Given the description of an element on the screen output the (x, y) to click on. 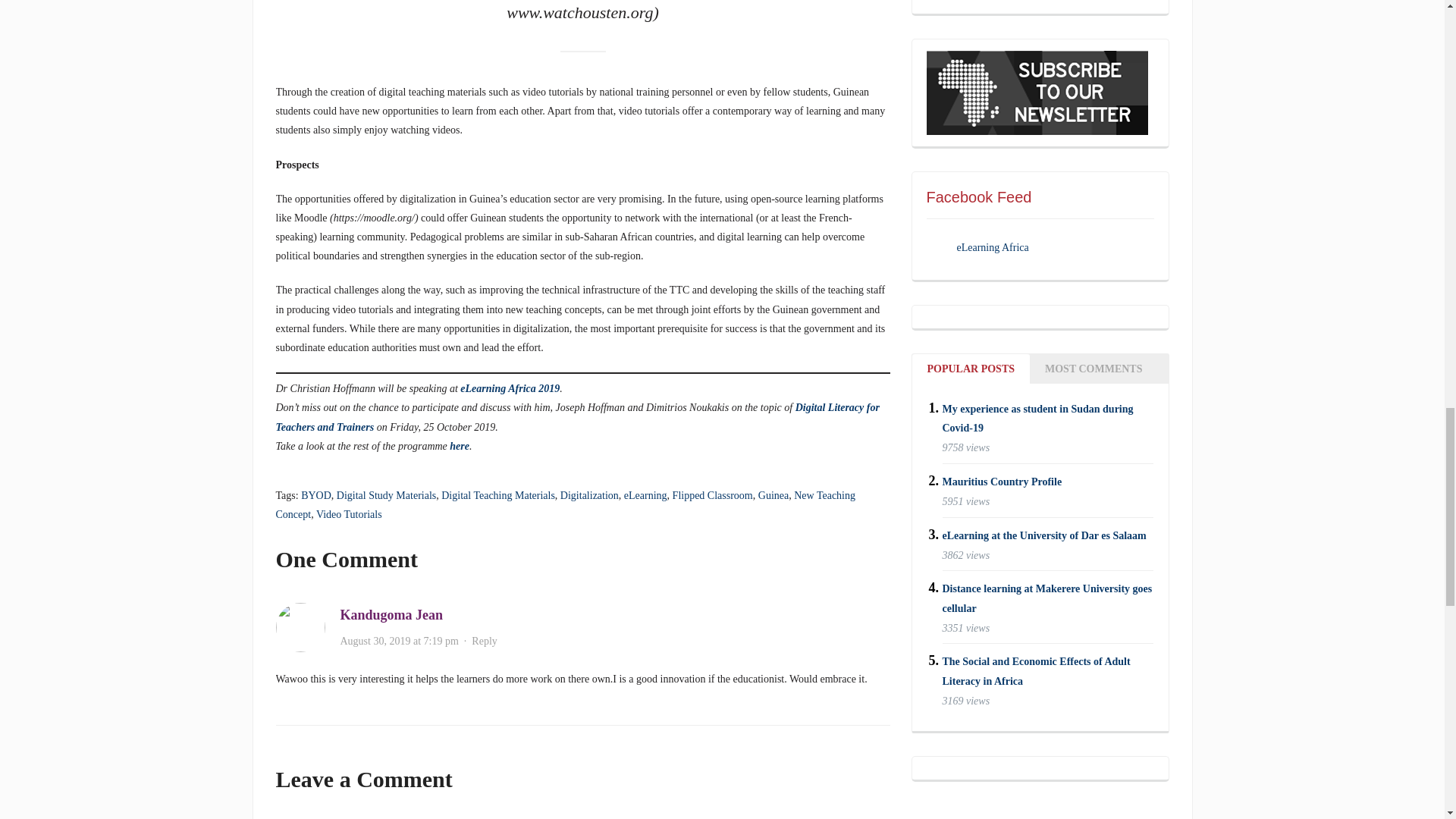
Flipped Classroom (712, 495)
August 30, 2019 at 7:19 pm (398, 641)
Guinea (773, 495)
Digital Teaching Materials (497, 495)
here (458, 446)
Digital Literacy for Teachers and Trainers (577, 417)
Digital Study Materials (385, 495)
Permanent Link to Mauritius Country Profile (1001, 481)
eLearning Africa 2019 (509, 388)
